Given the description of an element on the screen output the (x, y) to click on. 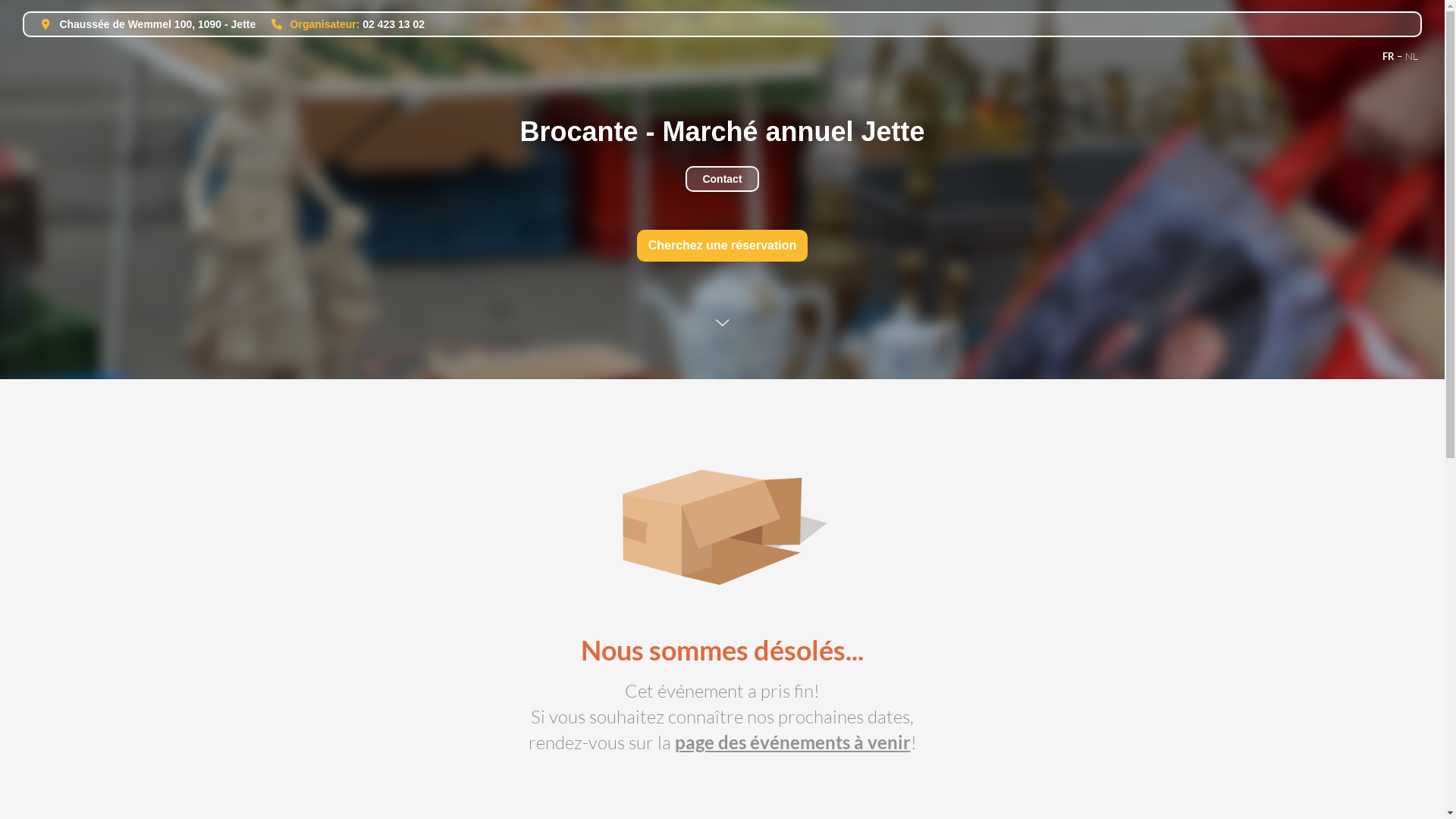
Organisateur: 02 423 13 02 Element type: text (341, 24)
Contact Element type: text (721, 178)
NL Element type: text (1411, 56)
